Given the description of an element on the screen output the (x, y) to click on. 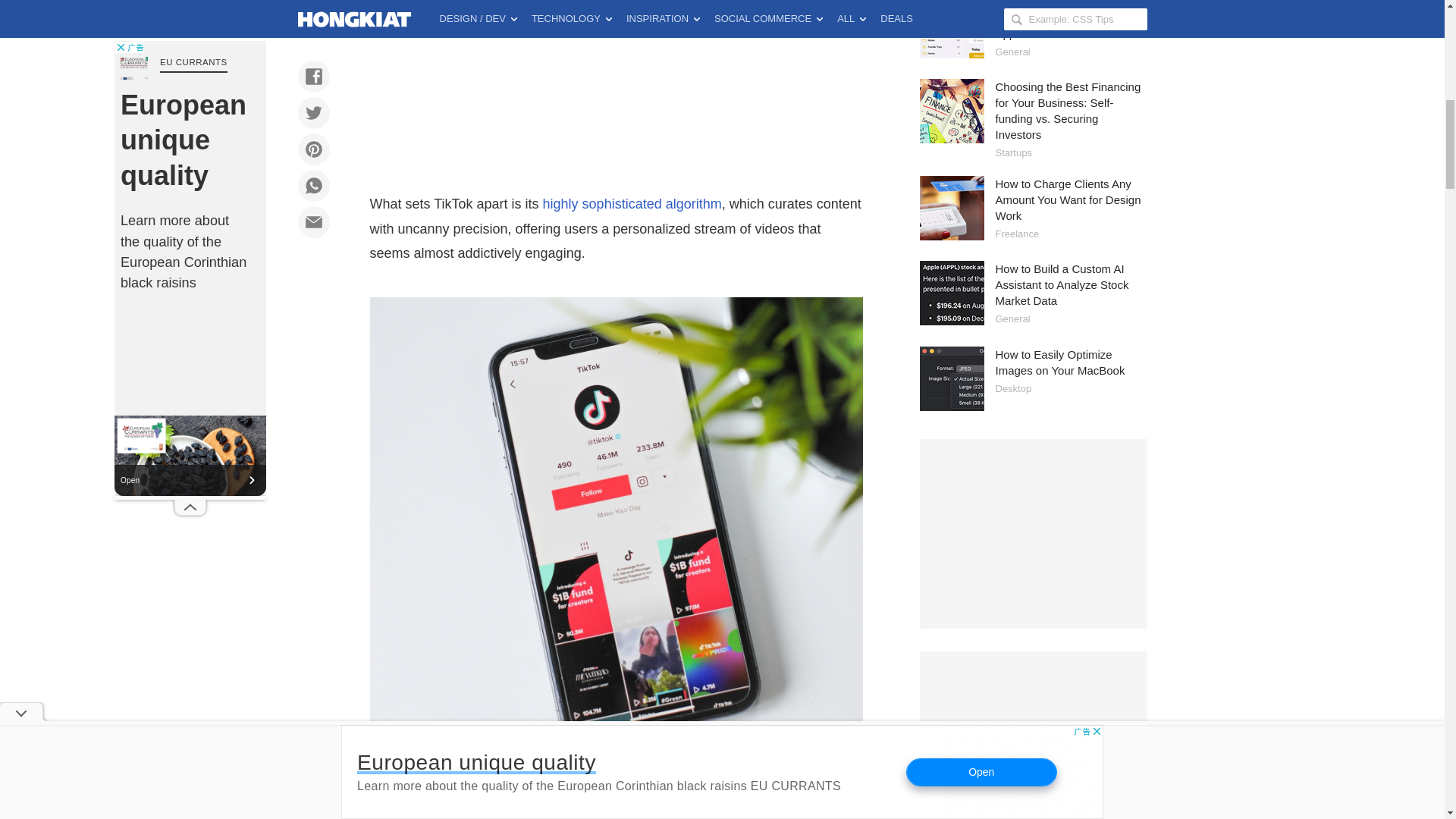
Advertisement (616, 92)
highly sophisticated algorithm (632, 203)
